Given the description of an element on the screen output the (x, y) to click on. 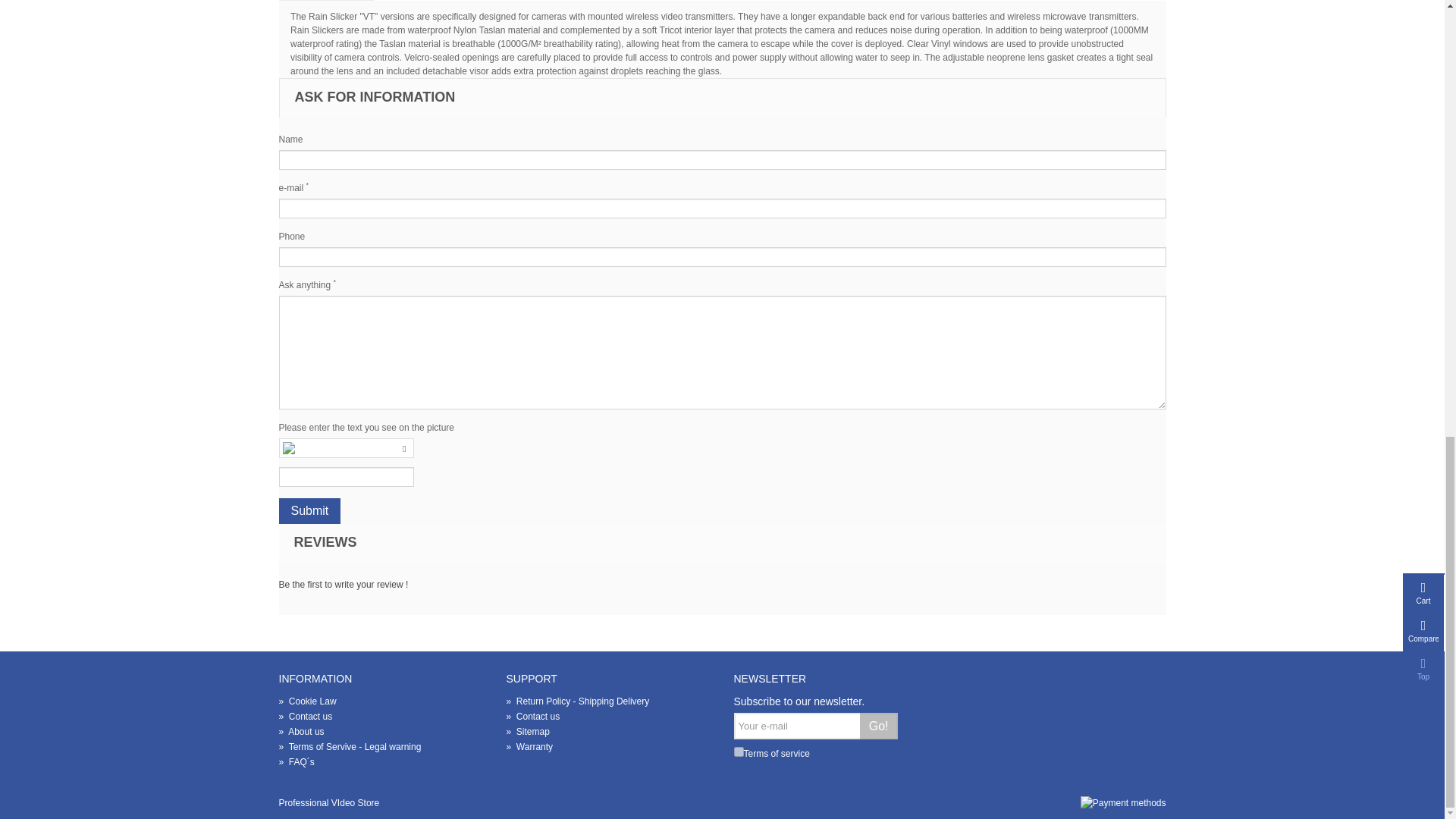
1 (738, 751)
